Given the description of an element on the screen output the (x, y) to click on. 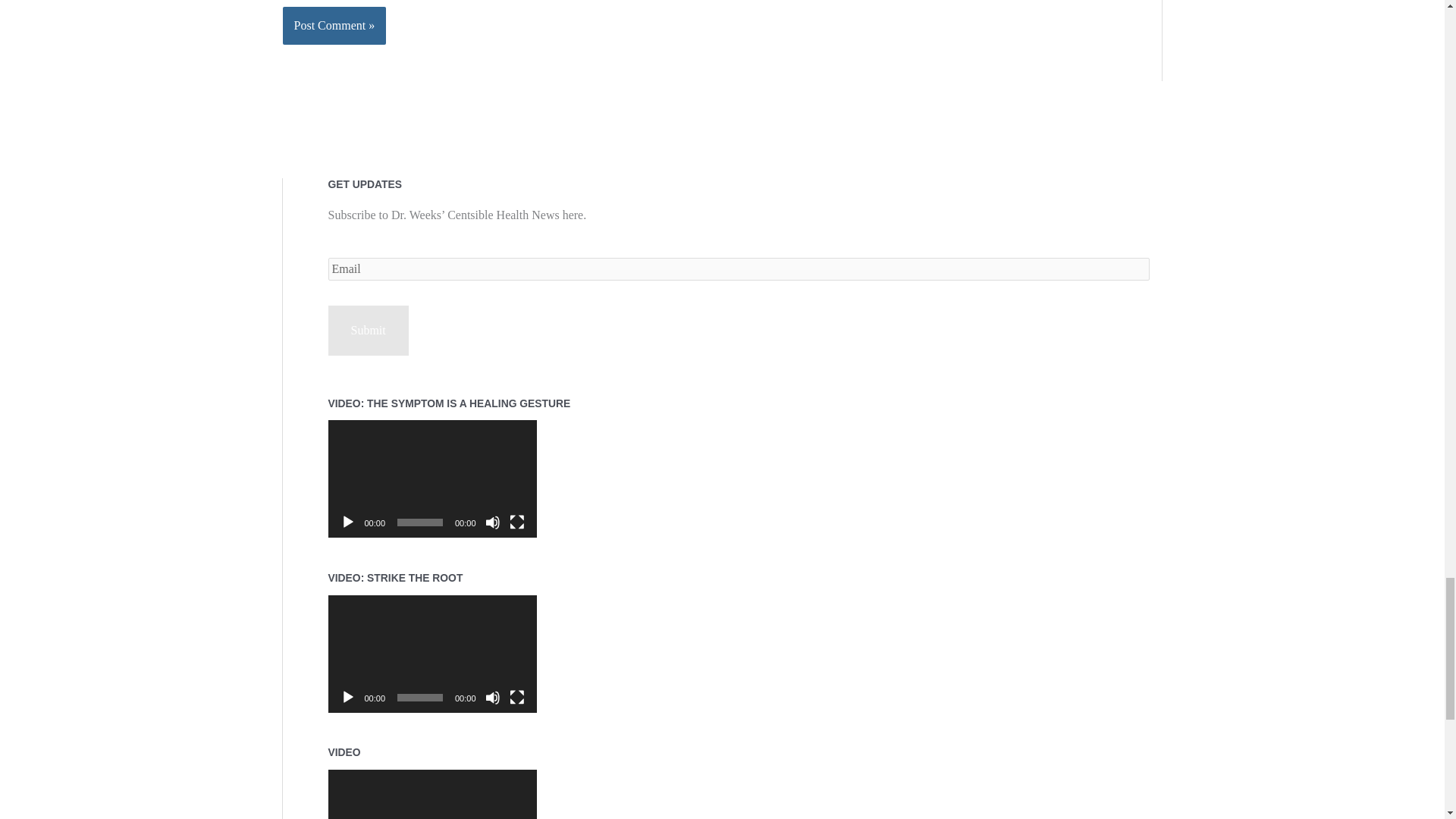
Play (347, 522)
Fullscreen (516, 697)
Submit (367, 330)
Fullscreen (516, 522)
Mute (492, 697)
Email (737, 268)
Mute (492, 522)
Play (347, 697)
